Given the description of an element on the screen output the (x, y) to click on. 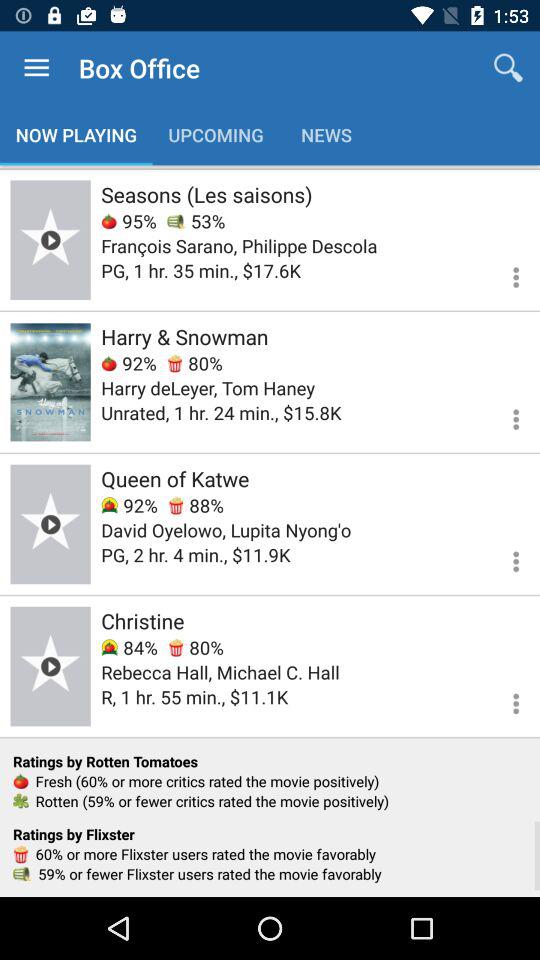
choose the app to the left of the box office (36, 68)
